Given the description of an element on the screen output the (x, y) to click on. 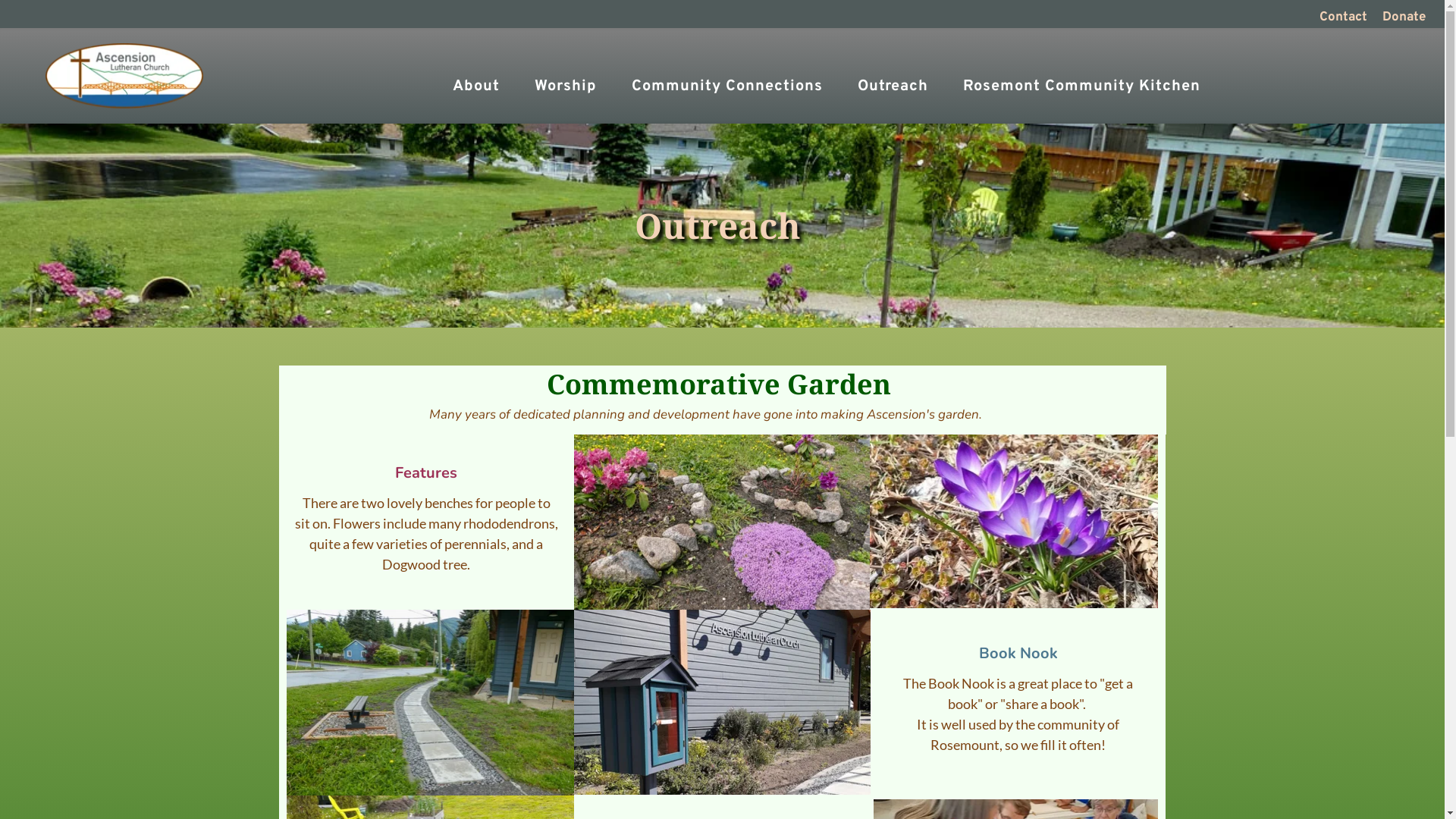
Contact Element type: text (1343, 17)
Worship Element type: text (565, 86)
Outreach Element type: text (892, 86)
Rosemont Community Kitchen Element type: text (1081, 86)
Donate Element type: text (1403, 17)
About Element type: text (475, 86)
Community Connections Element type: text (726, 86)
